Given the description of an element on the screen output the (x, y) to click on. 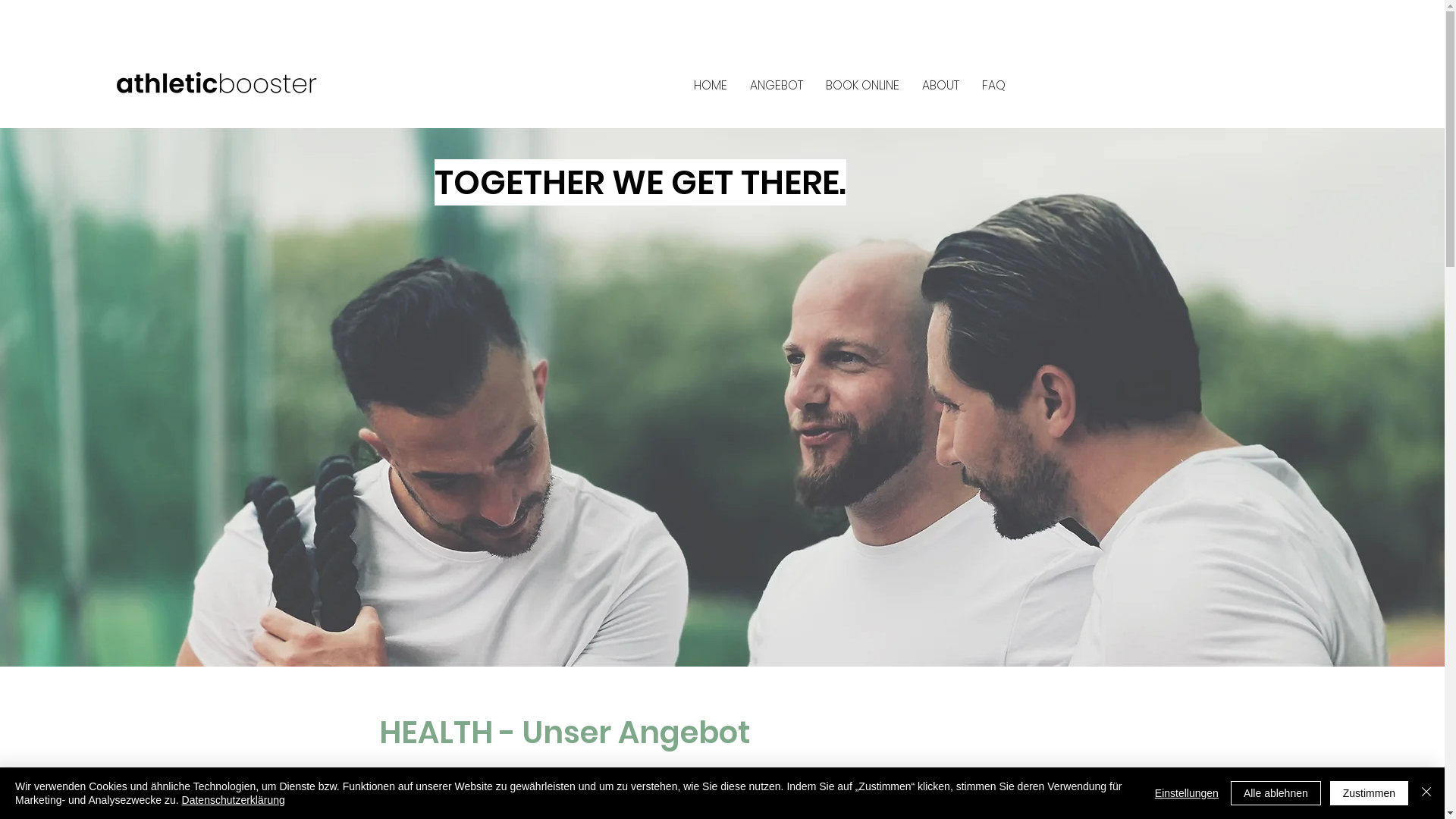
Alle ablehnen Element type: text (1275, 793)
BOOK ONLINE Element type: text (862, 85)
ANGEBOT Element type: text (776, 85)
ABOUT Element type: text (940, 85)
FAQ Element type: text (993, 85)
HOME Element type: text (710, 85)
Zustimmen Element type: text (1369, 793)
